Given the description of an element on the screen output the (x, y) to click on. 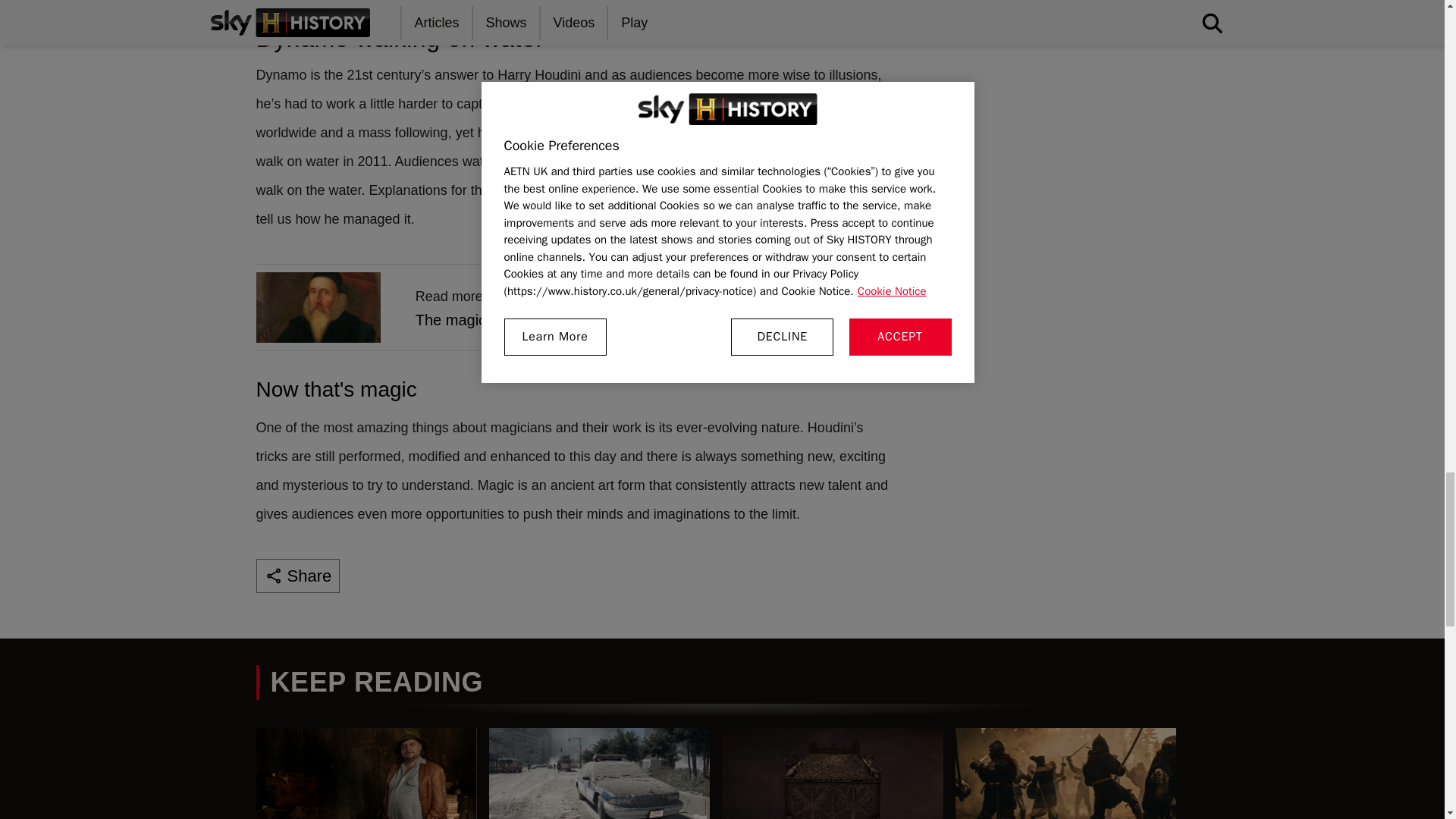
Share (298, 575)
The historical legacy of the Knights Templar (574, 307)
Lost worlds: Did these legendary sunken lands really exist? (1065, 773)
